Given the description of an element on the screen output the (x, y) to click on. 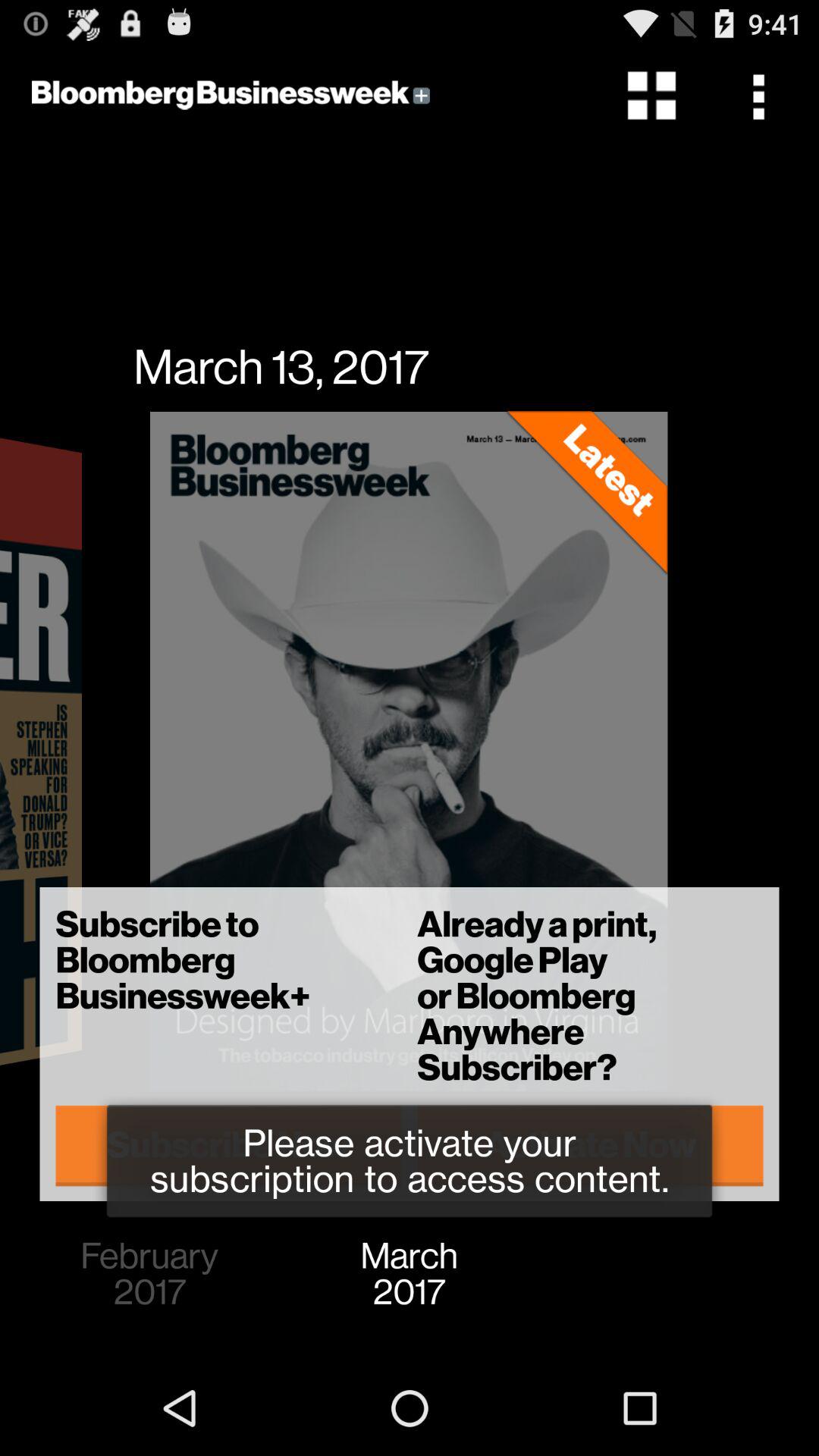
jump until the activate now icon (590, 1145)
